Given the description of an element on the screen output the (x, y) to click on. 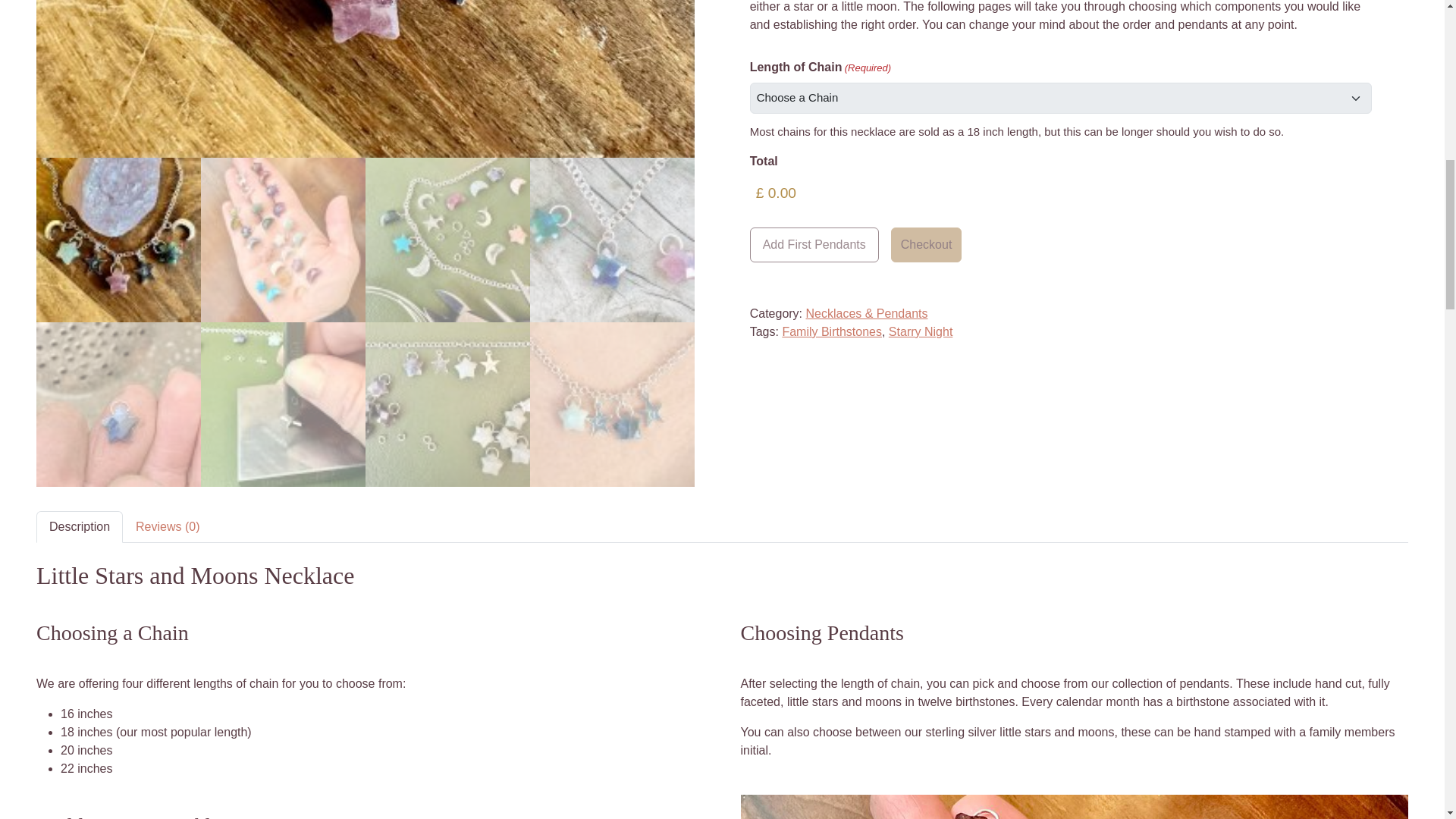
Add First Pendants (814, 244)
gallery07 (1023, 78)
PHOTO-2023-10-30-13-12-56 (365, 78)
